Given the description of an element on the screen output the (x, y) to click on. 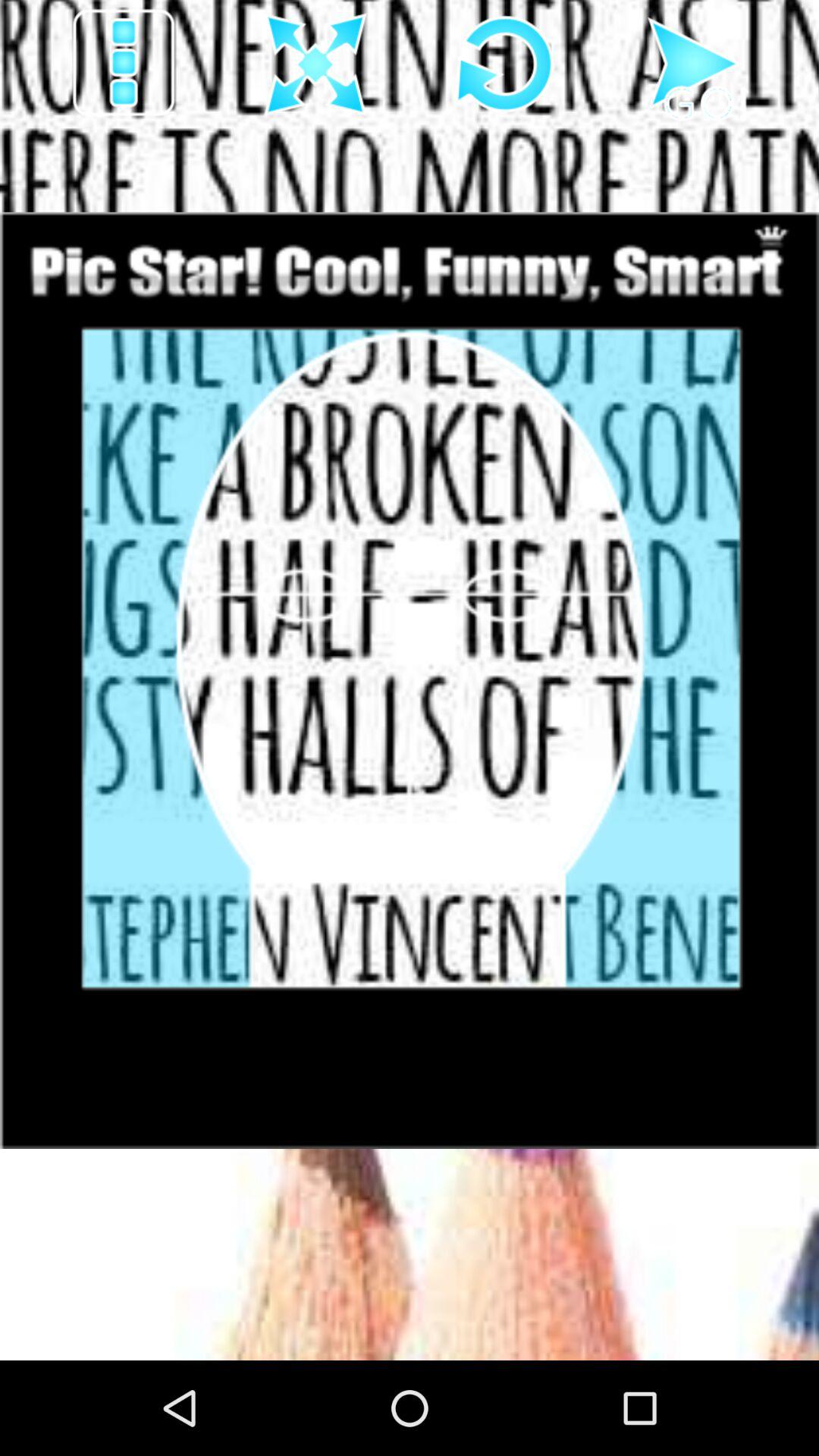
zoom in (315, 64)
